Given the description of an element on the screen output the (x, y) to click on. 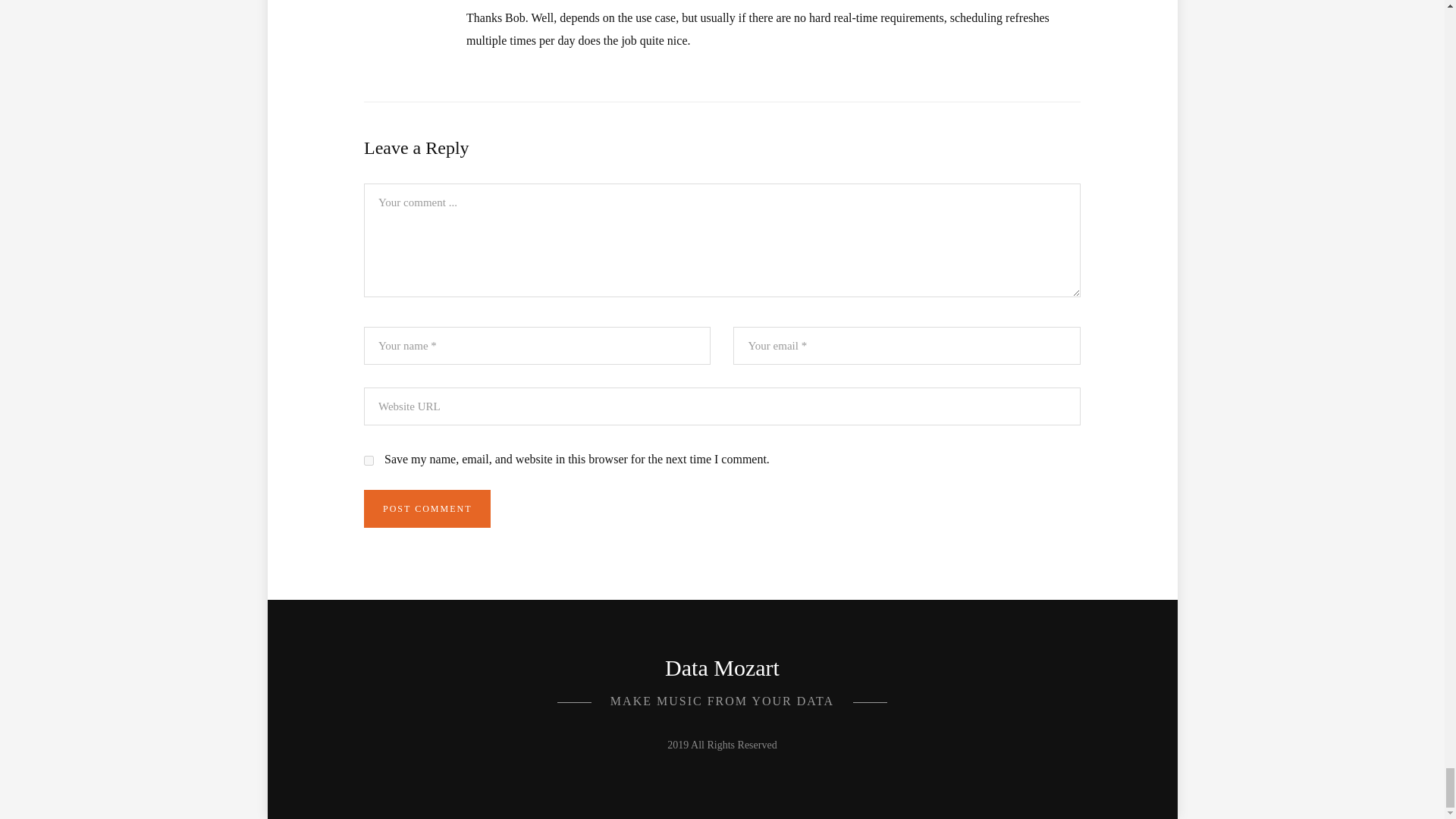
Post Comment (427, 508)
yes (369, 460)
